Given the description of an element on the screen output the (x, y) to click on. 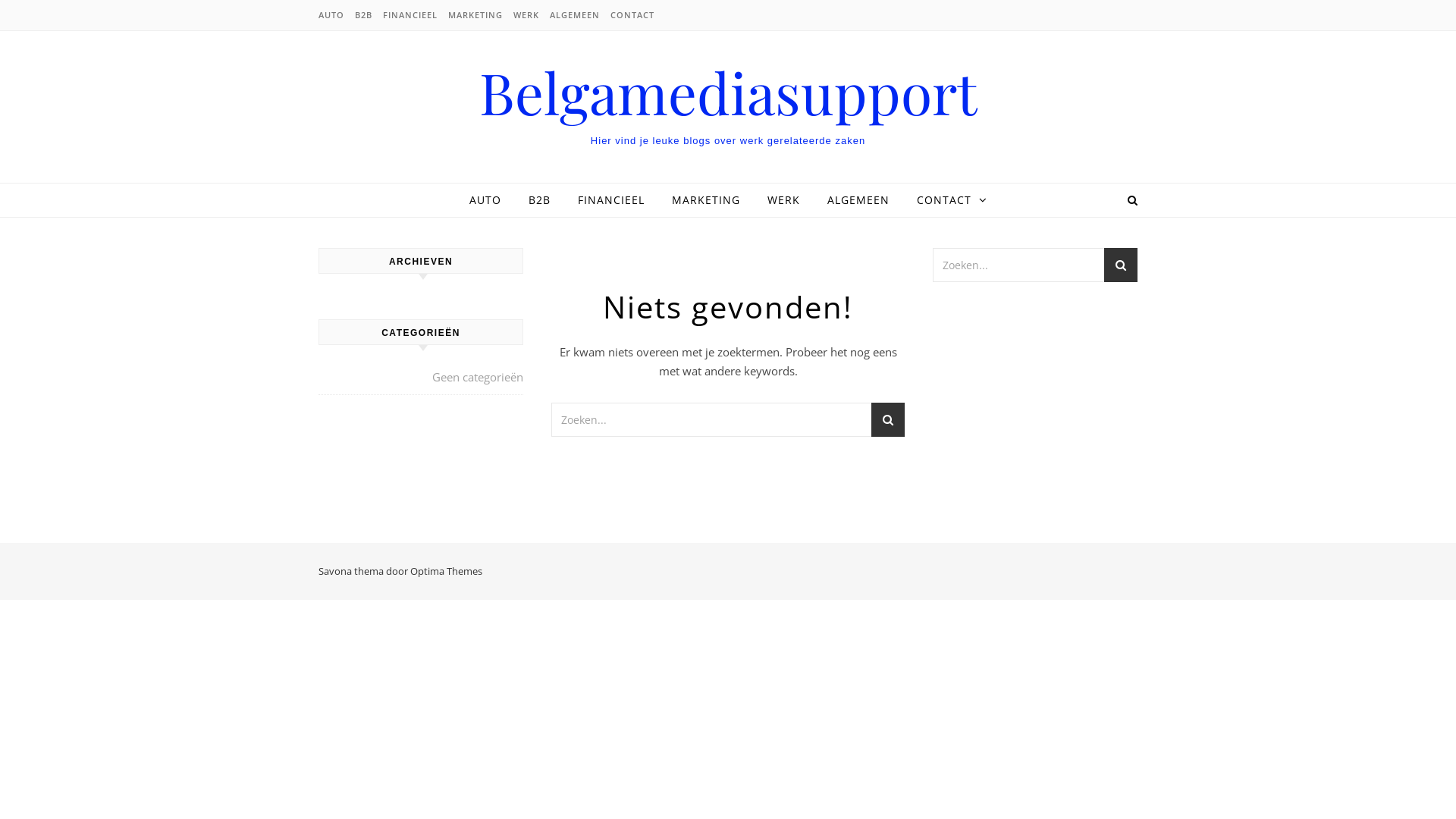
ALGEMEEN Element type: text (574, 15)
MARKETING Element type: text (475, 15)
B2B Element type: text (363, 15)
Optima Themes Element type: text (446, 570)
CONTACT Element type: text (944, 199)
WERK Element type: text (525, 15)
FINANCIEEL Element type: text (410, 15)
CONTACT Element type: text (630, 15)
ALGEMEEN Element type: text (857, 199)
WERK Element type: text (783, 199)
FINANCIEEL Element type: text (610, 199)
st Element type: text (1120, 266)
MARKETING Element type: text (705, 199)
B2B Element type: text (538, 199)
AUTO Element type: text (333, 15)
st Element type: text (887, 421)
AUTO Element type: text (490, 199)
Belgamediasupport Element type: text (728, 91)
